Given the description of an element on the screen output the (x, y) to click on. 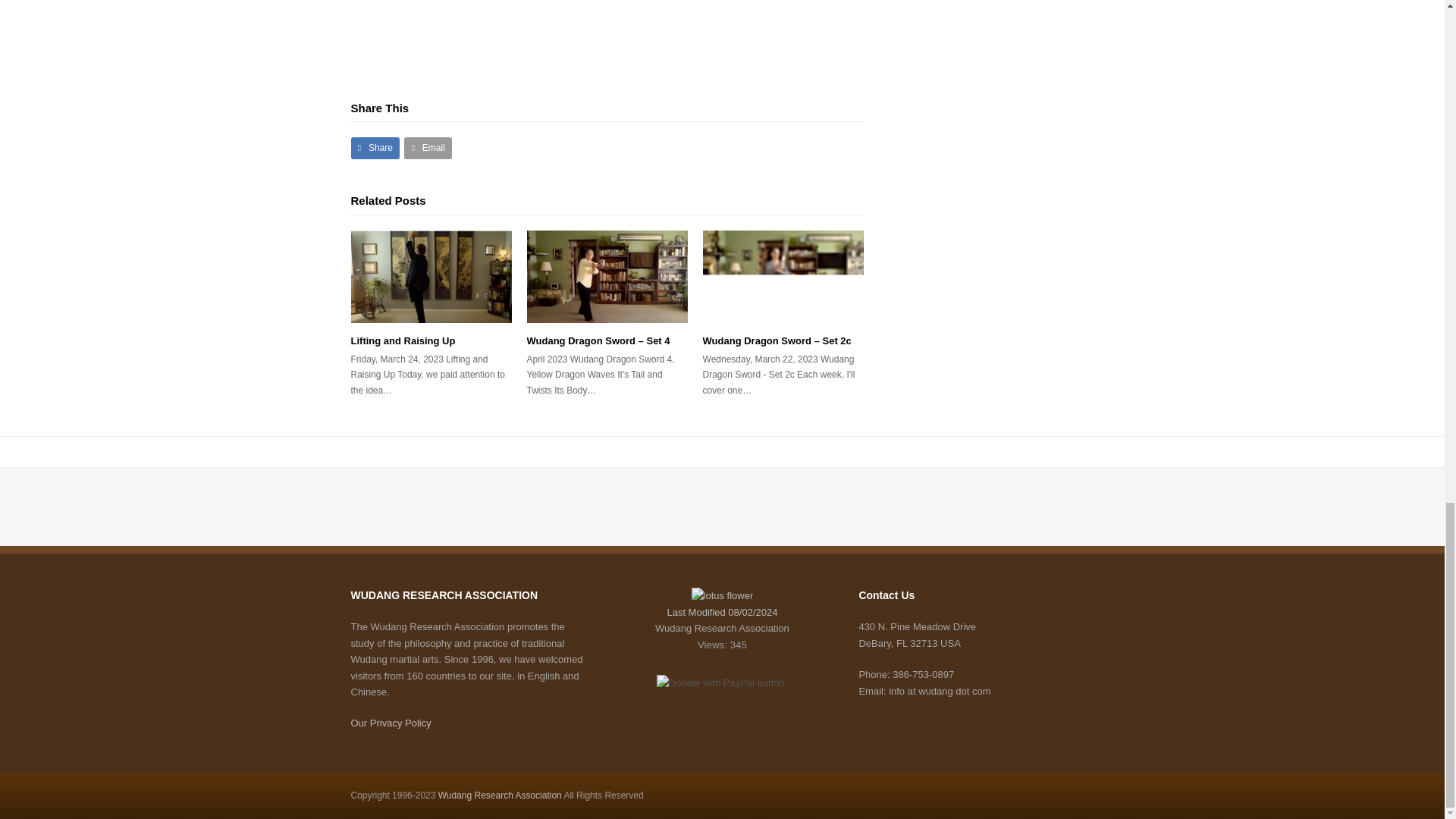
PayPal - The safer, easier way to pay online! (720, 682)
YouTube video player (562, 16)
Lifting and Raising Up (430, 276)
